Given the description of an element on the screen output the (x, y) to click on. 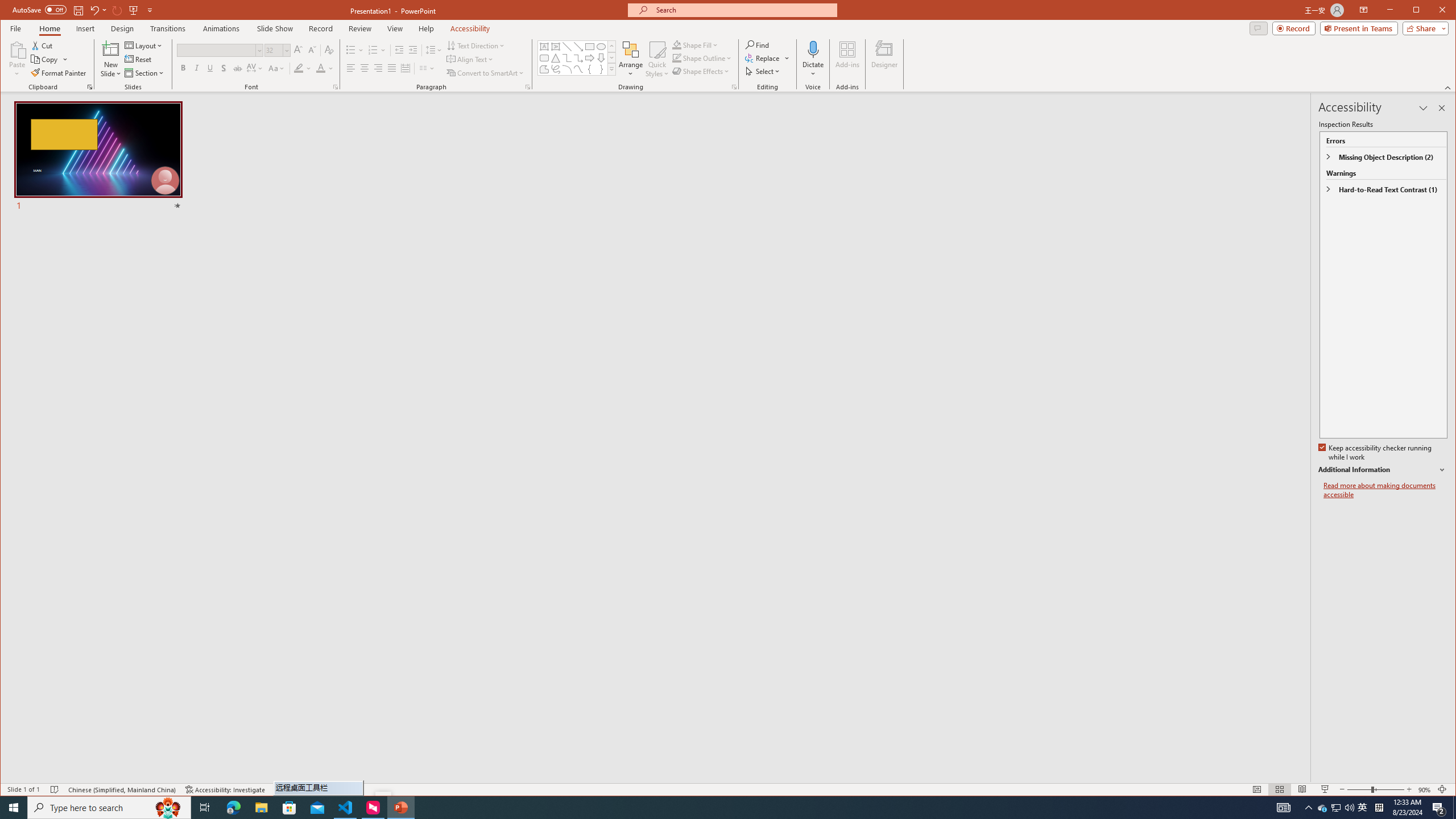
Find... (758, 44)
AutomationID: ShapesInsertGallery (577, 57)
Tray Input Indicator - Chinese (Simplified, China) (1378, 807)
User Promoted Notification Area (1336, 807)
AutomationID: 4105 (1283, 807)
Paragraph... (527, 86)
Section (144, 72)
